Given the description of an element on the screen output the (x, y) to click on. 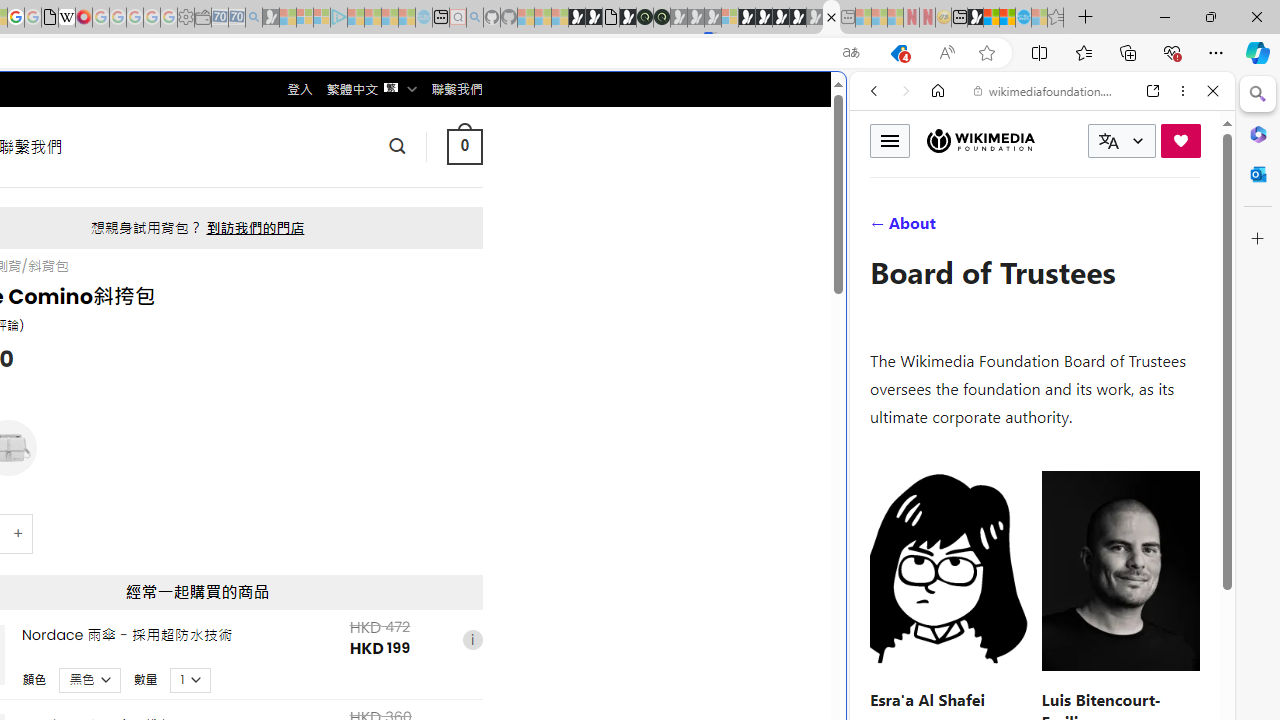
i (472, 639)
MediaWiki (83, 17)
